Given the description of an element on the screen output the (x, y) to click on. 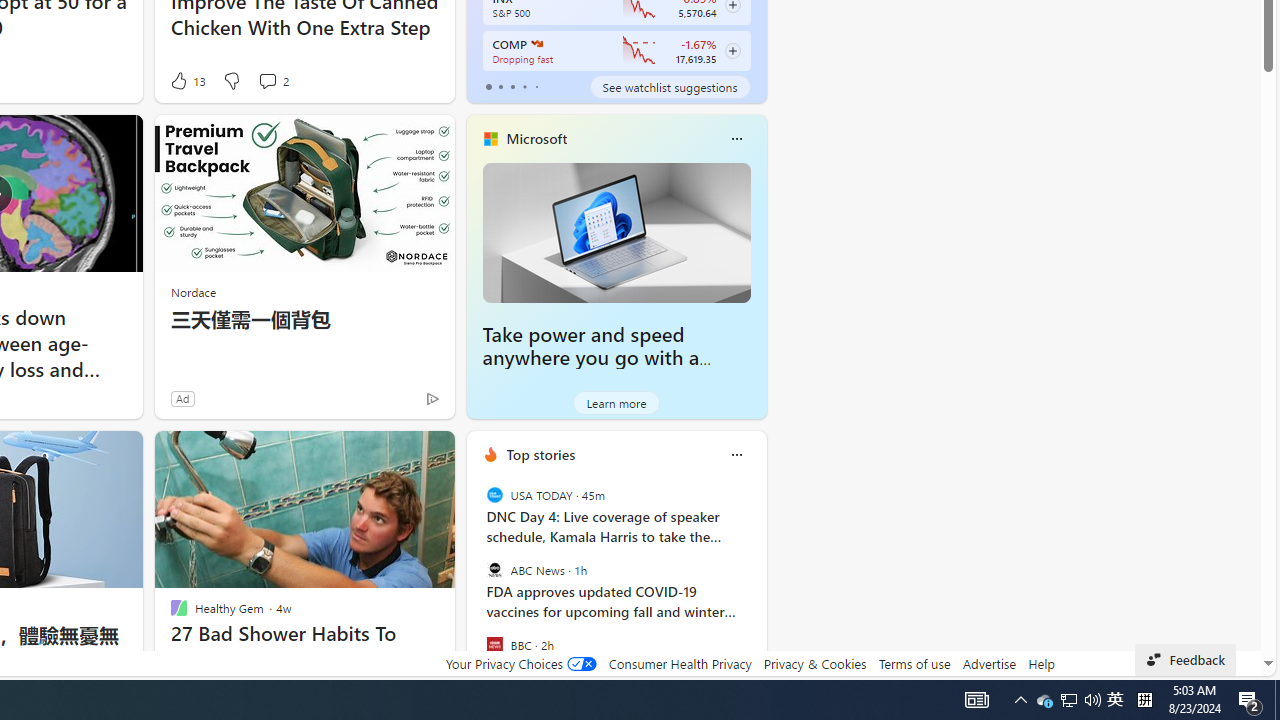
13 Like (186, 80)
Your Privacy Choices (520, 663)
Hide this story (393, 454)
previous (476, 583)
See watchlist suggestions (669, 86)
tab-3 (524, 86)
tab-4 (535, 86)
USA TODAY (494, 494)
